Given the description of an element on the screen output the (x, y) to click on. 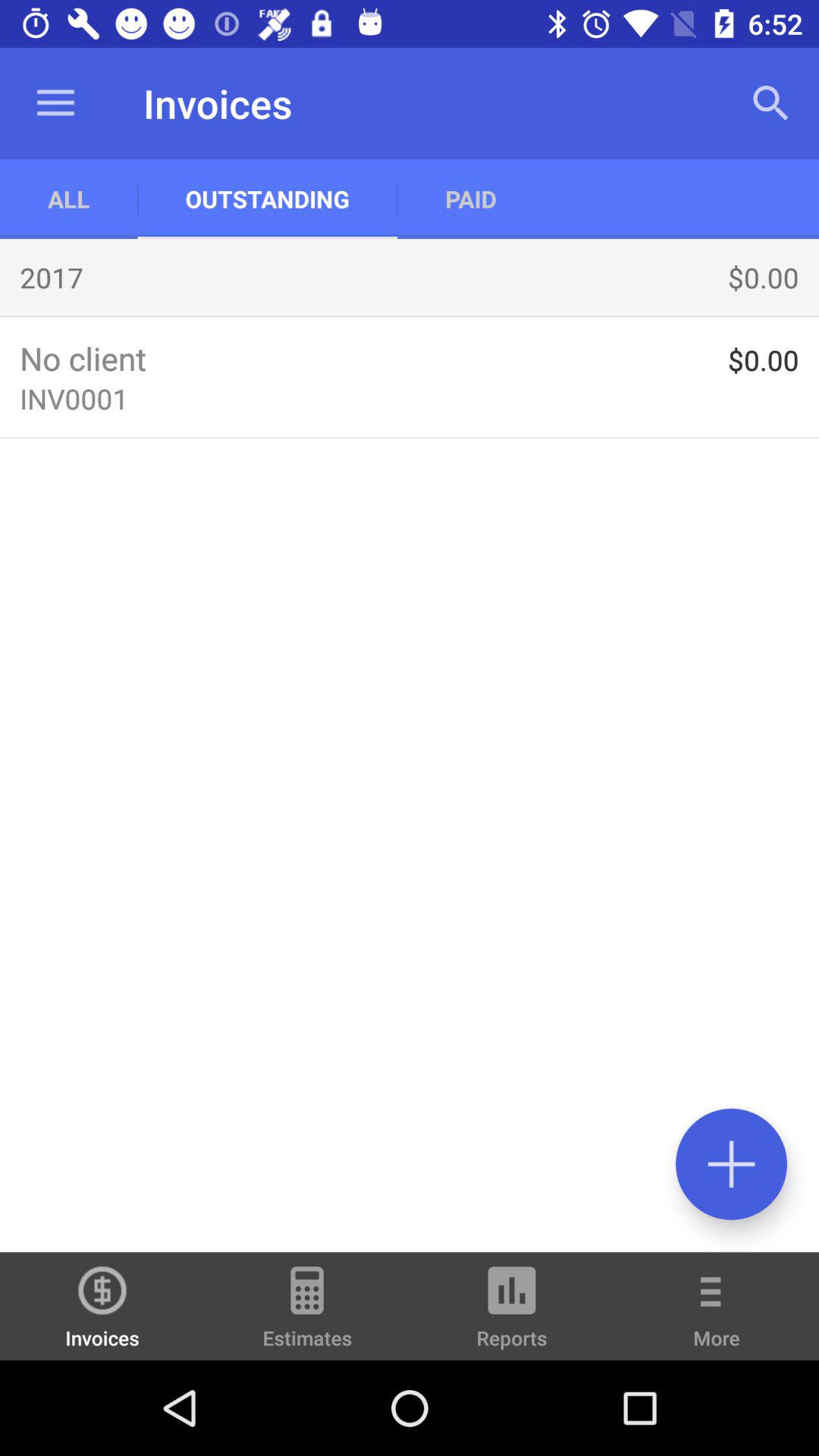
tap item to the right of invoices item (306, 1313)
